Given the description of an element on the screen output the (x, y) to click on. 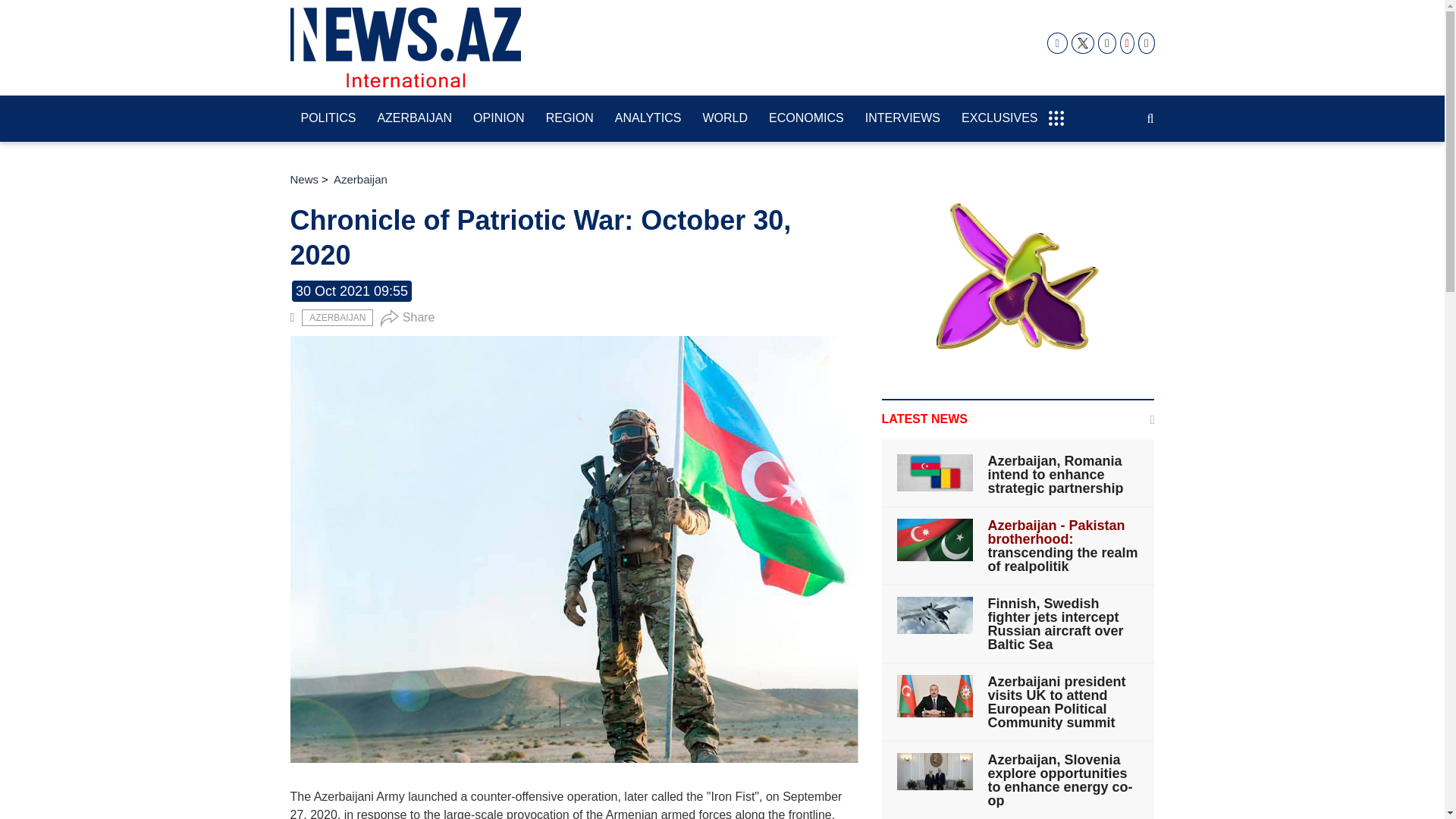
REGION (569, 119)
AZERBAIJAN (414, 119)
OPINION (499, 119)
INTERVIEWS (902, 119)
News.az (404, 47)
WORLD (725, 119)
Exclusives (999, 119)
ECONOMICS (806, 119)
Menu (1056, 110)
facebook (1056, 43)
Azerbaijan (336, 317)
ANALYTICS (648, 119)
POLITICS (327, 119)
twitter (1082, 43)
